Given the description of an element on the screen output the (x, y) to click on. 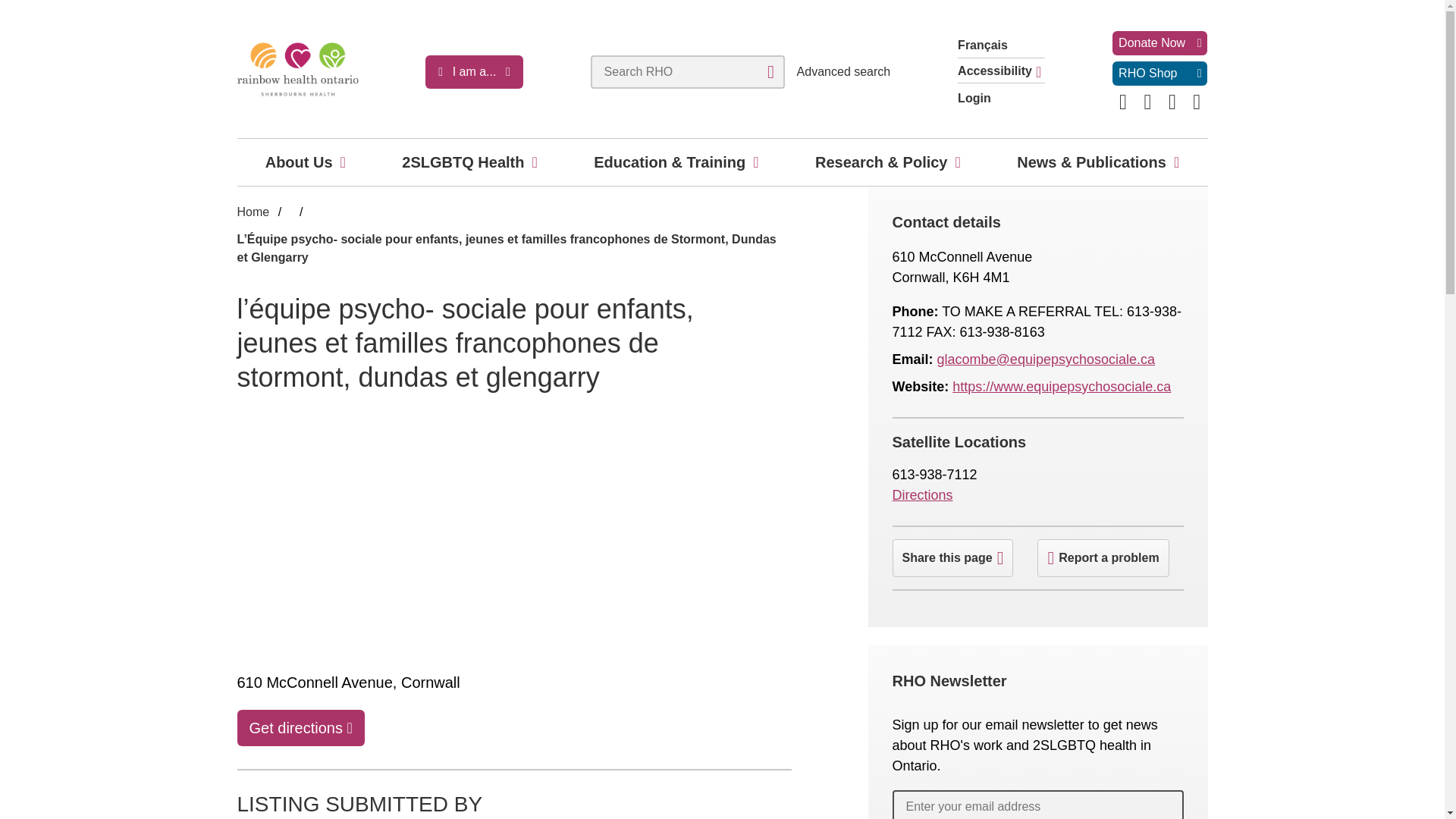
Accessibility (1001, 72)
Login (1001, 98)
RHO Shop (1159, 73)
Facebook (1123, 102)
About Us Toggle (342, 161)
Advanced search (843, 72)
YouTube (1196, 102)
I am a... (473, 71)
Donate Now (1159, 43)
Submit search (770, 71)
LinkedIn (1147, 102)
Twitter (1171, 102)
